Given the description of an element on the screen output the (x, y) to click on. 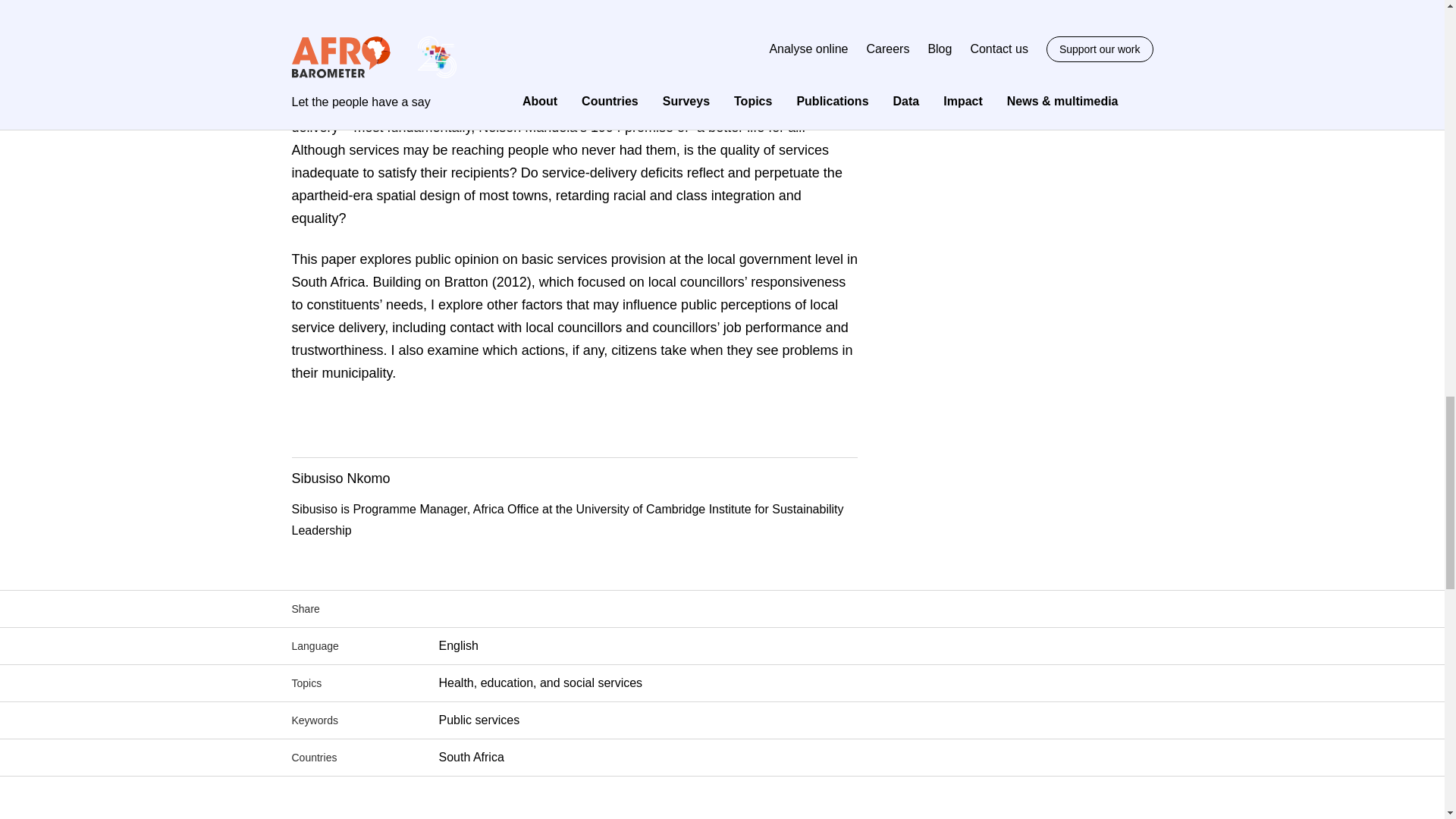
Search for South Africa (470, 757)
Share on email (539, 609)
Search for Public services (478, 719)
Share on Twitter (475, 608)
Share on Facebook (443, 608)
Search for English (457, 645)
Search for Health, education, and social services (540, 682)
Share on LinkedIn (507, 608)
